Given the description of an element on the screen output the (x, y) to click on. 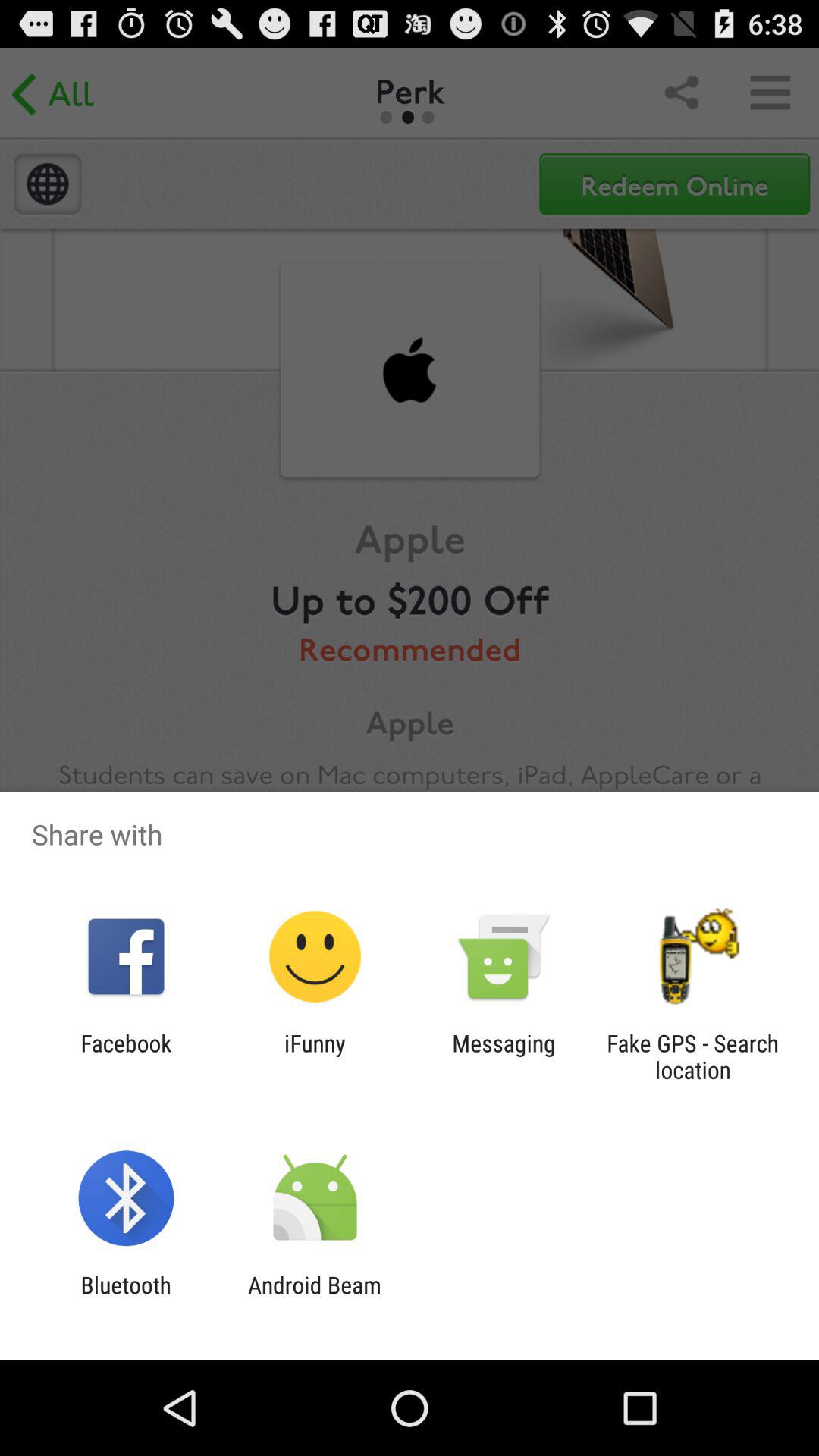
press facebook item (125, 1056)
